Given the description of an element on the screen output the (x, y) to click on. 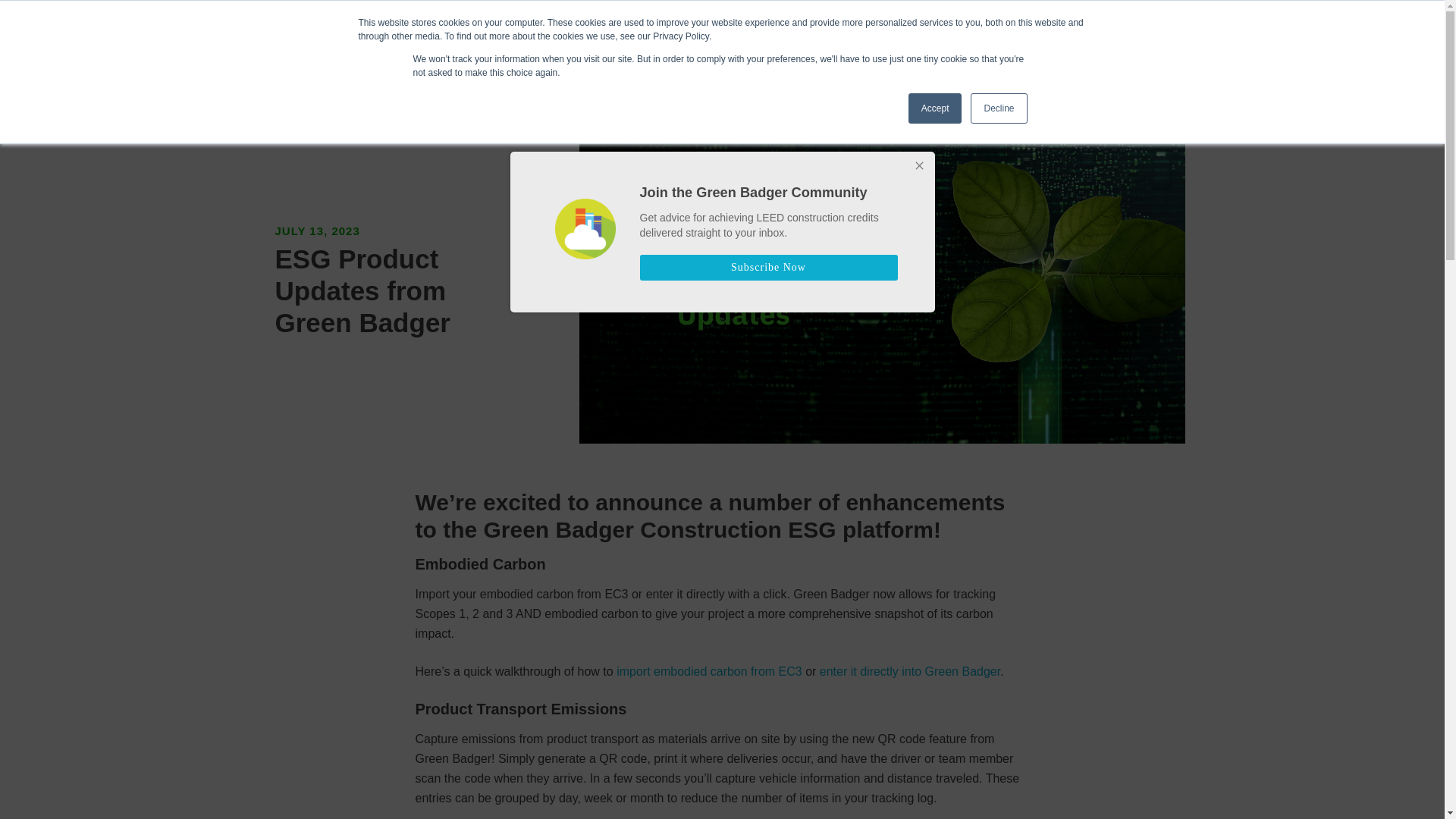
Products (534, 42)
Green Badger (334, 37)
Solutions (604, 42)
Accept (935, 108)
Resources (739, 42)
Company (816, 42)
Pricing (671, 42)
Decline (998, 108)
